Given the description of an element on the screen output the (x, y) to click on. 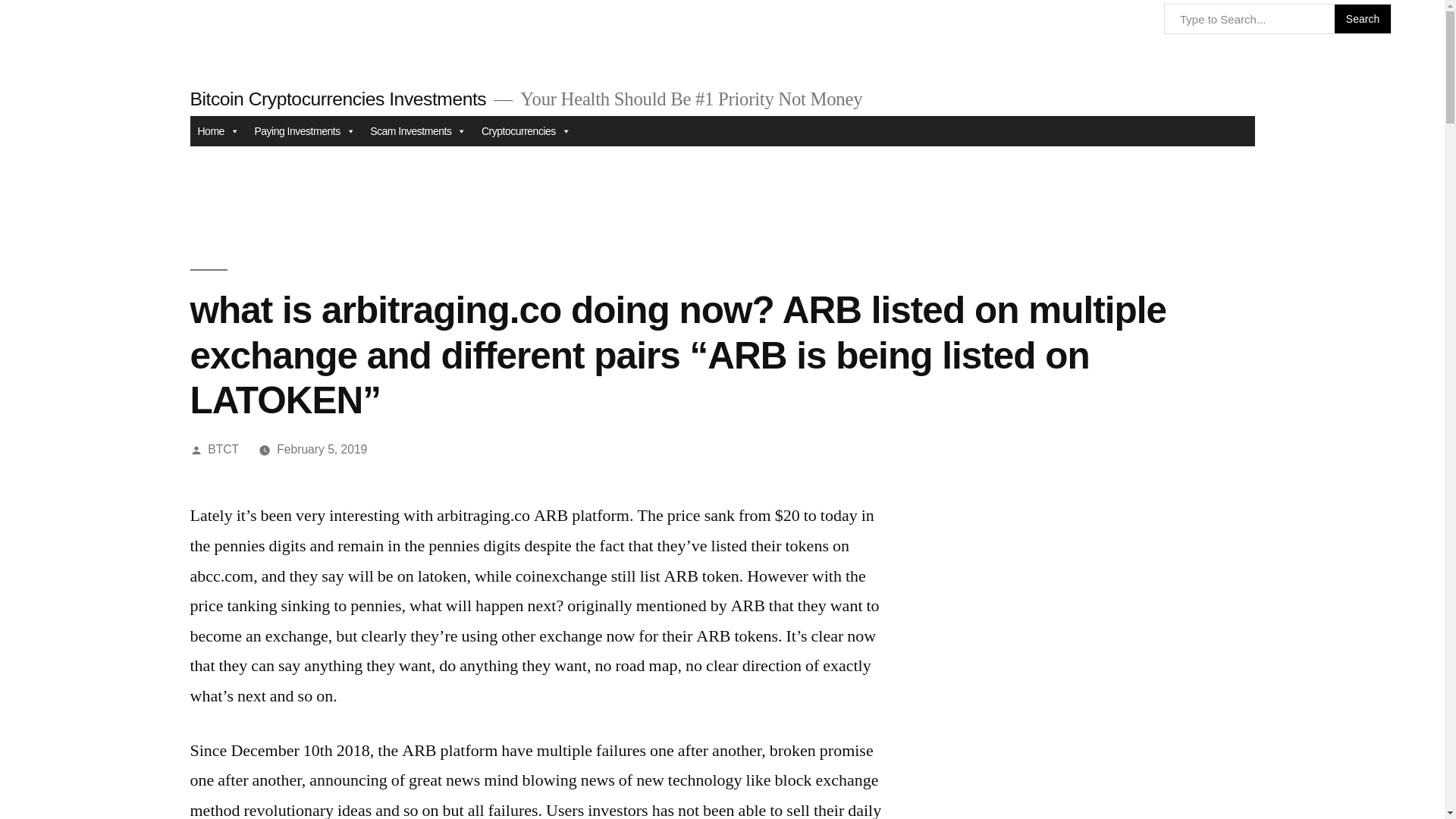
Cryptocurrencies (526, 131)
Home (217, 131)
Search (1363, 19)
Search (1363, 19)
Bitcoin Cryptocurrencies Investments (337, 98)
Paying Investments (304, 131)
Scam Investments (418, 131)
